Given the description of an element on the screen output the (x, y) to click on. 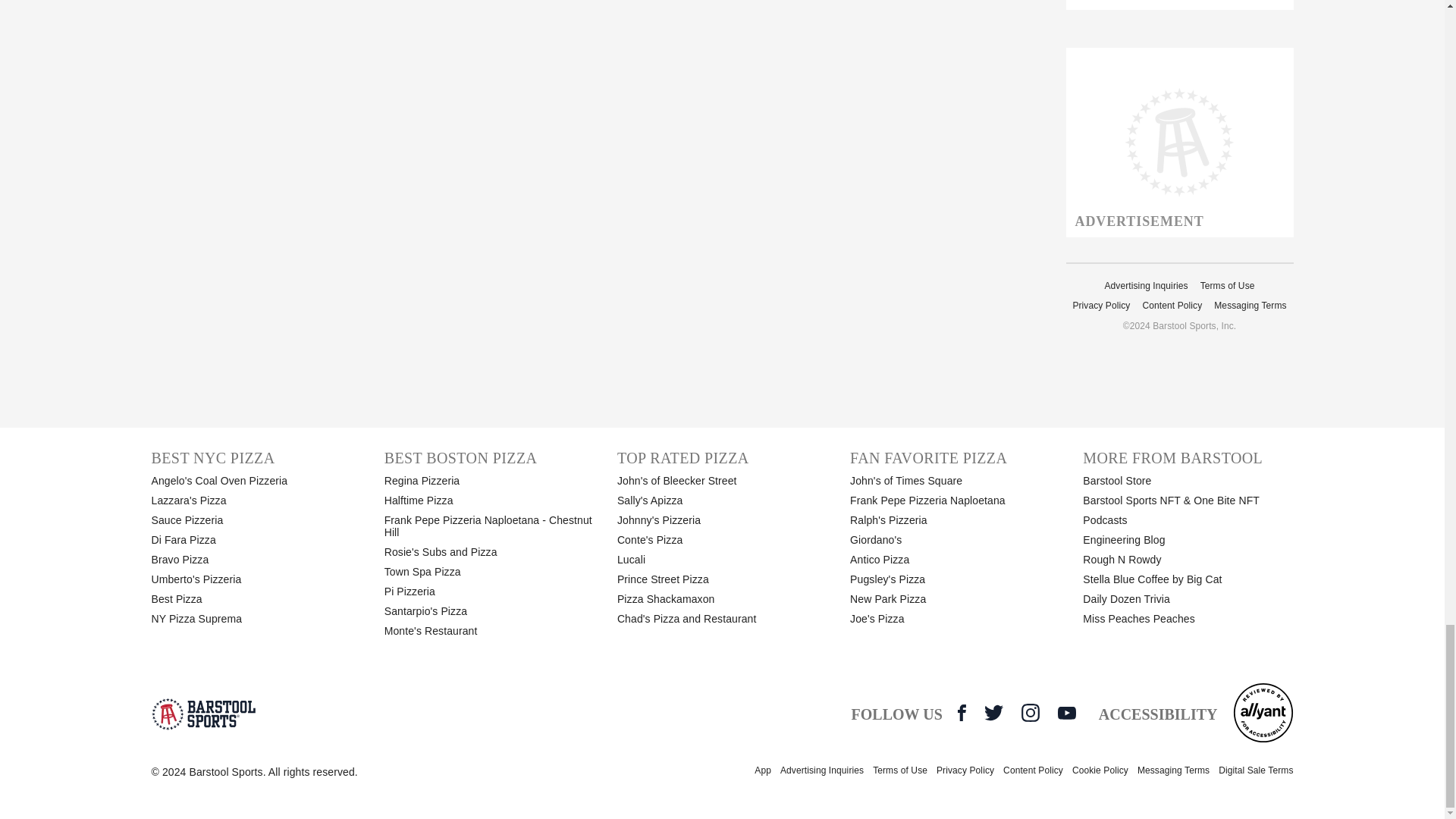
Reviewed by Allyant for accessibility (1263, 712)
Instagram Icon (1030, 712)
Twitter Icon (993, 712)
YouTube Icon (1066, 712)
